Given the description of an element on the screen output the (x, y) to click on. 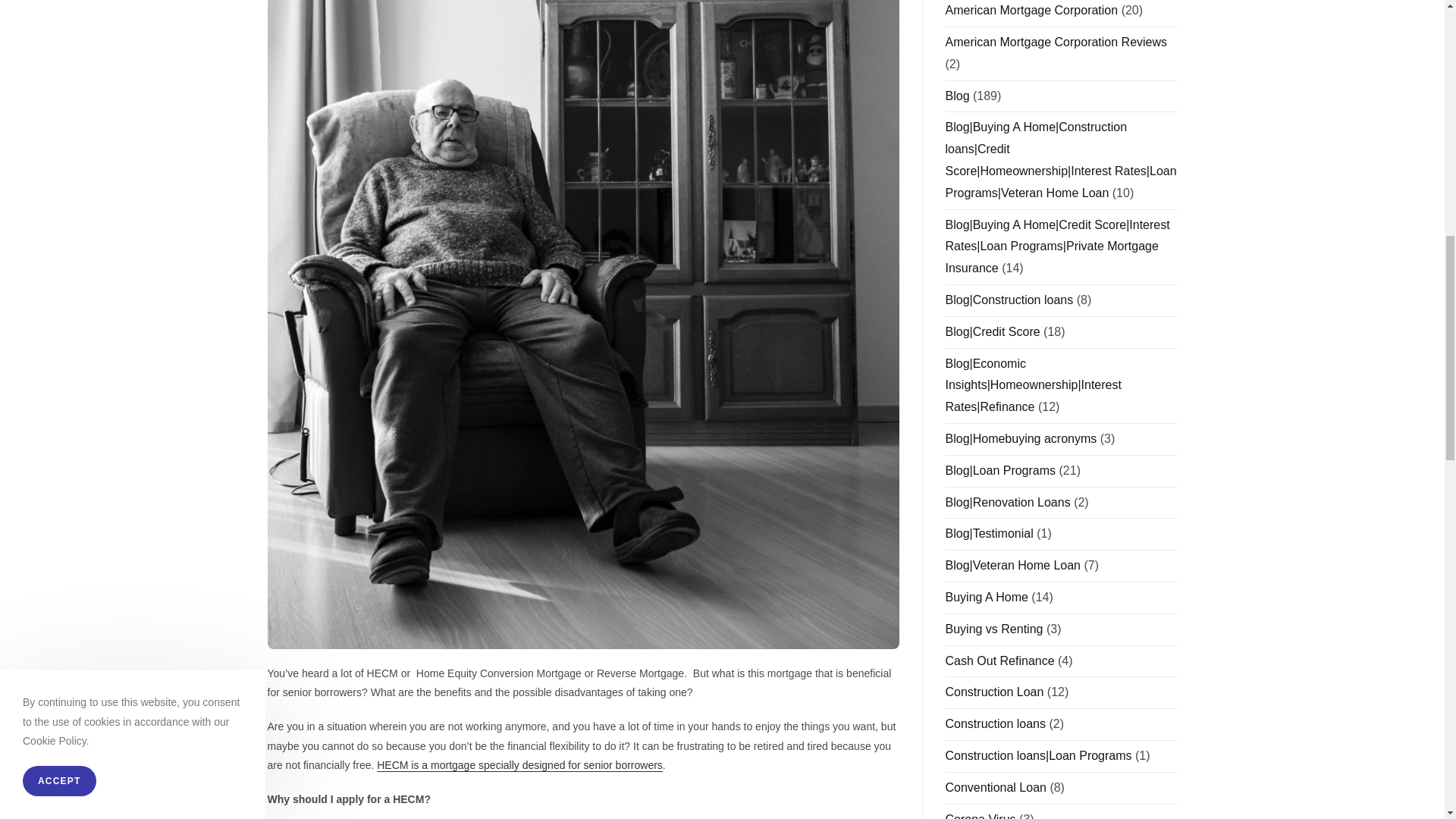
American Mortgage Corporation (1031, 10)
American Mortgage Corporation Reviews (1055, 42)
HECM is a mortgage specially designed for senior borrowers (519, 765)
